Given the description of an element on the screen output the (x, y) to click on. 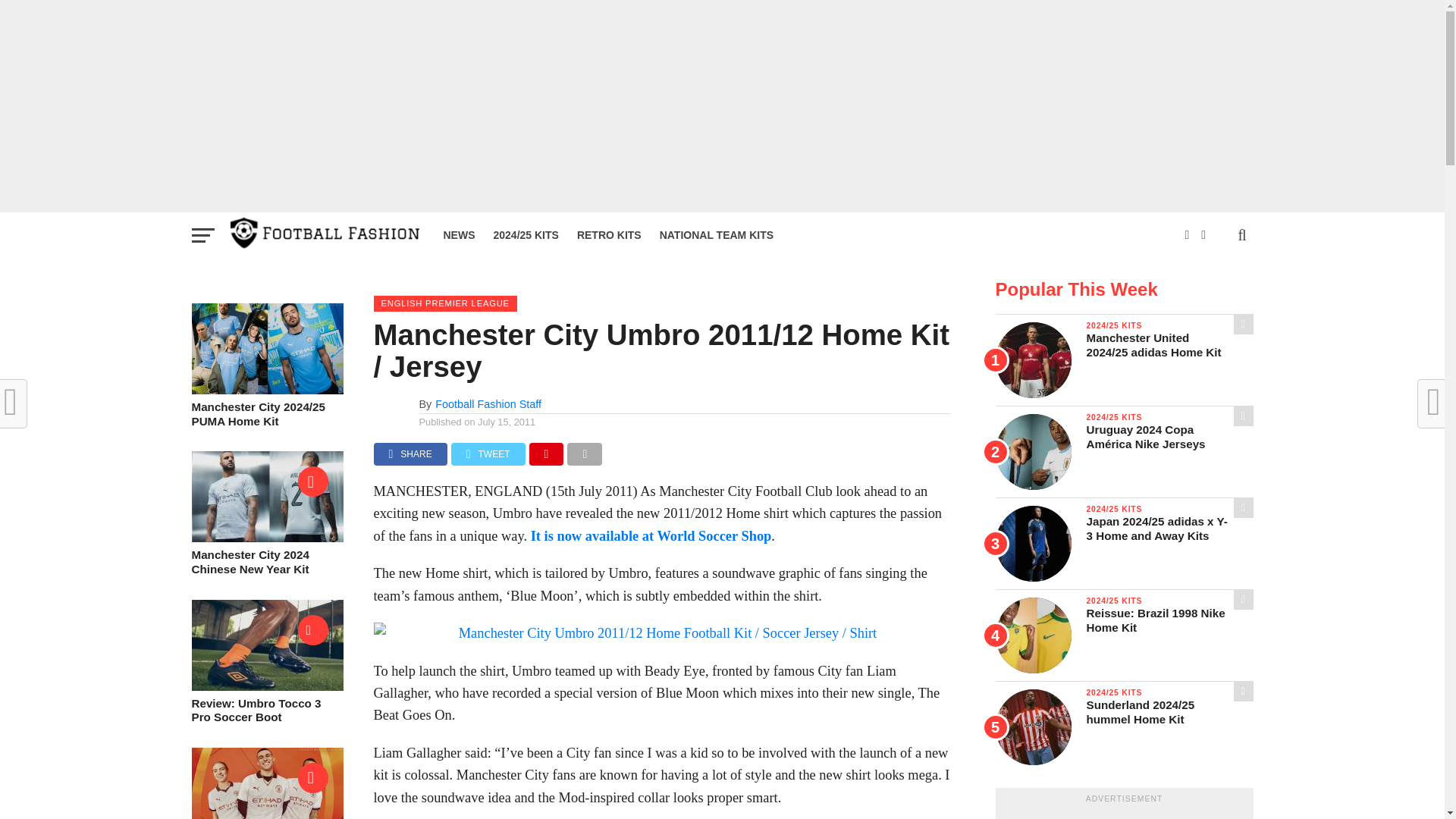
Posts by Football Fashion Staff (488, 404)
Review: Umbro Tocco 3 Pro Soccer Boot (266, 686)
Manchester City 2024 Chinese New Year Kit (266, 537)
